Given the description of an element on the screen output the (x, y) to click on. 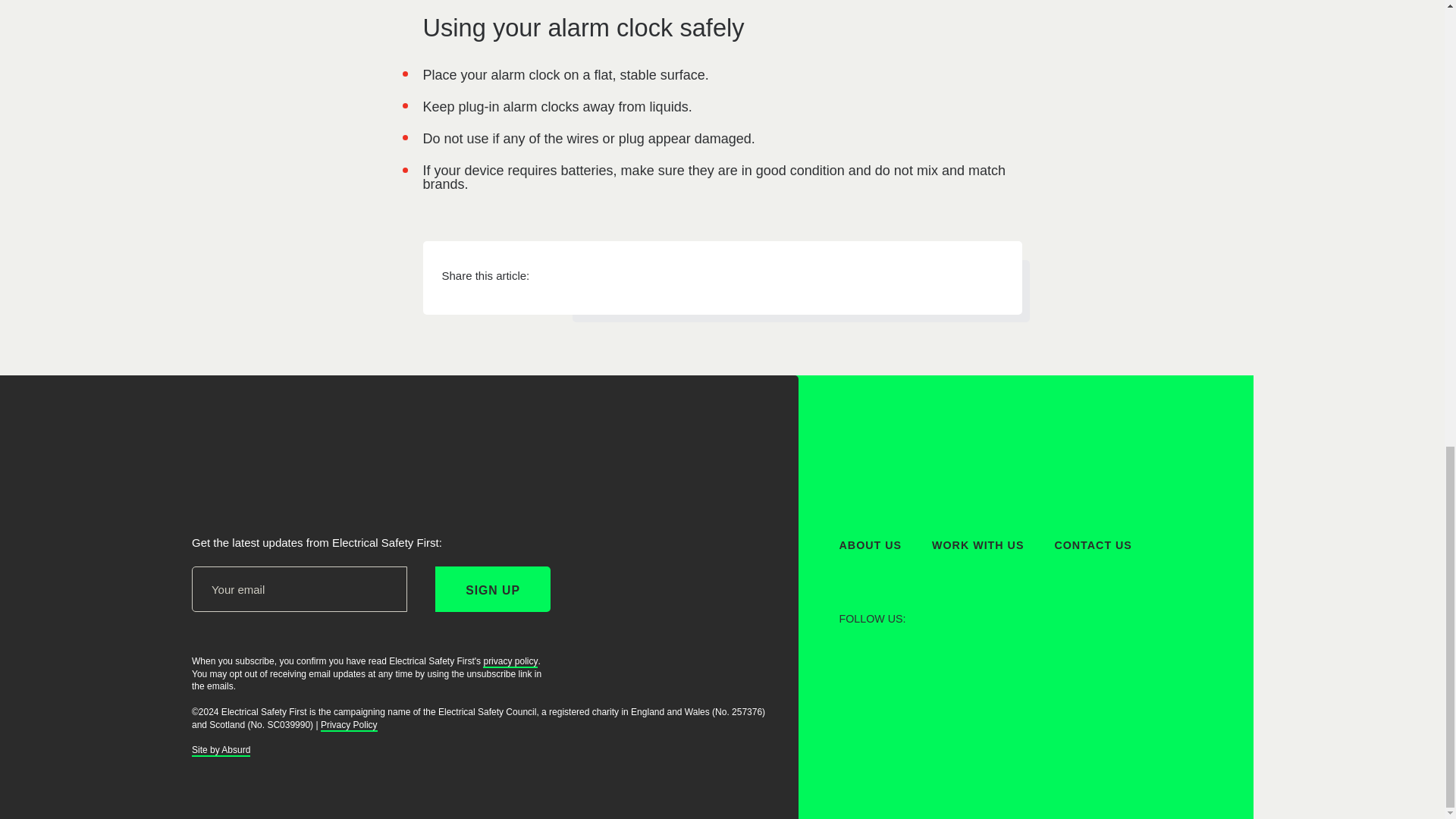
Digital Design Agency (219, 751)
Sign up (492, 588)
